Given the description of an element on the screen output the (x, y) to click on. 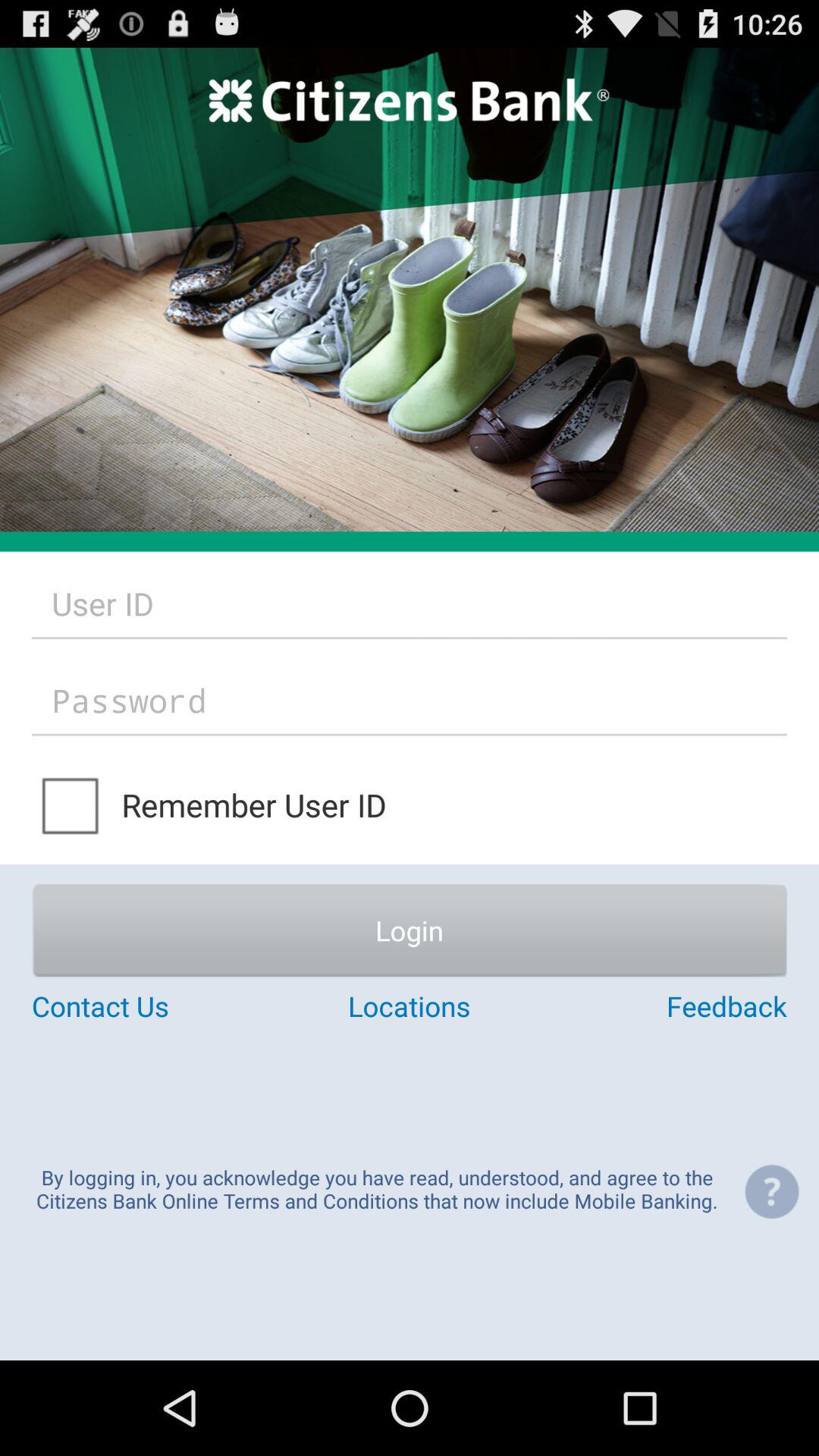
choose the item below feedback (771, 1191)
